Given the description of an element on the screen output the (x, y) to click on. 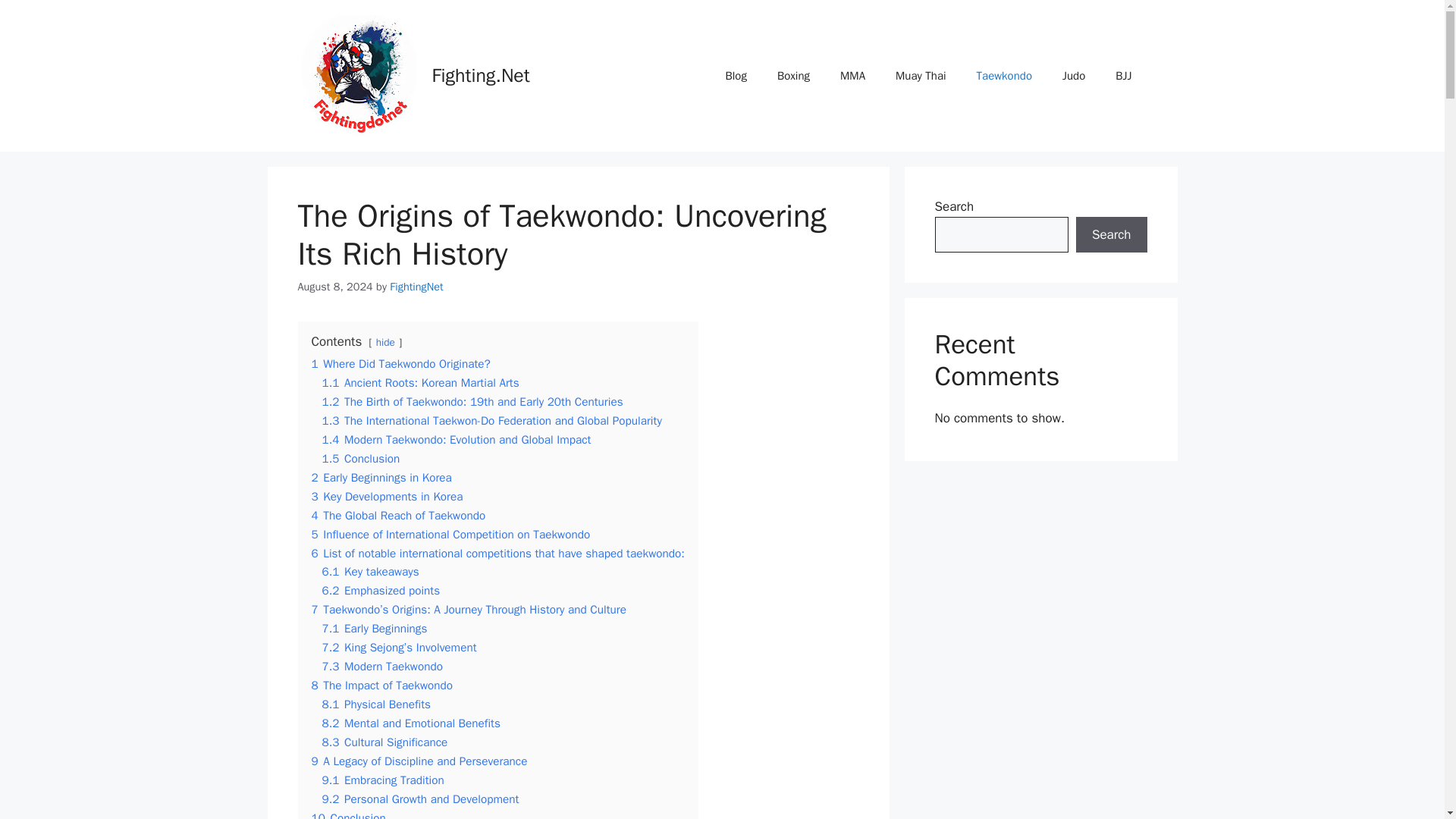
Boxing (793, 75)
1.1 Ancient Roots: Korean Martial Arts (419, 382)
hide (384, 341)
9.1 Embracing Tradition (382, 780)
View all posts by FightingNet (416, 286)
6.2 Emphasized points (380, 590)
7.1 Early Beginnings (373, 628)
8 The Impact of Taekwondo (381, 685)
Blog (735, 75)
BJJ (1123, 75)
